Given the description of an element on the screen output the (x, y) to click on. 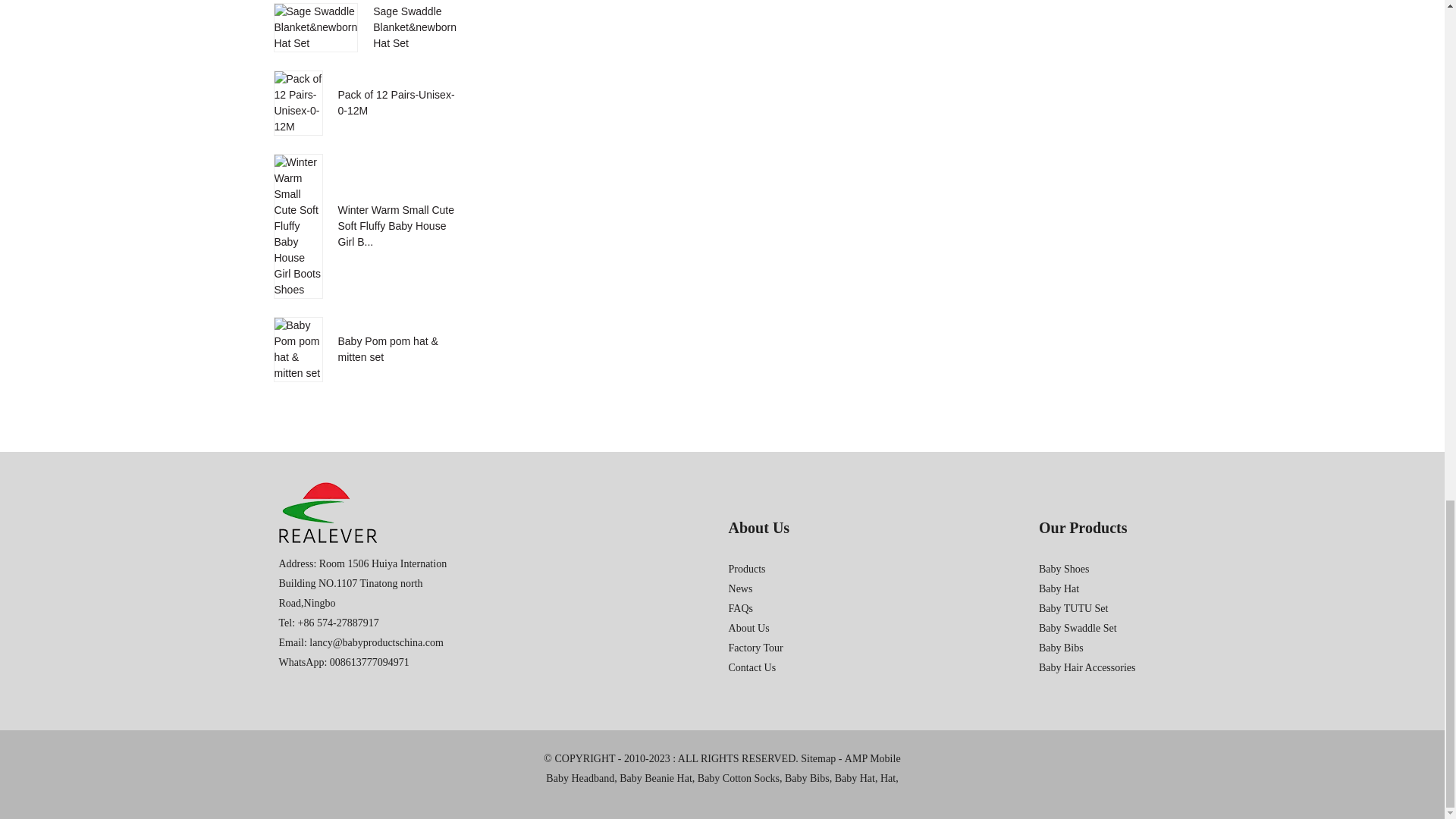
Baby Beanie Hat (656, 778)
Baby Bibs (806, 778)
Baby Hat (854, 778)
Baby Cotton Socks (737, 778)
Baby Headband (580, 778)
